Given the description of an element on the screen output the (x, y) to click on. 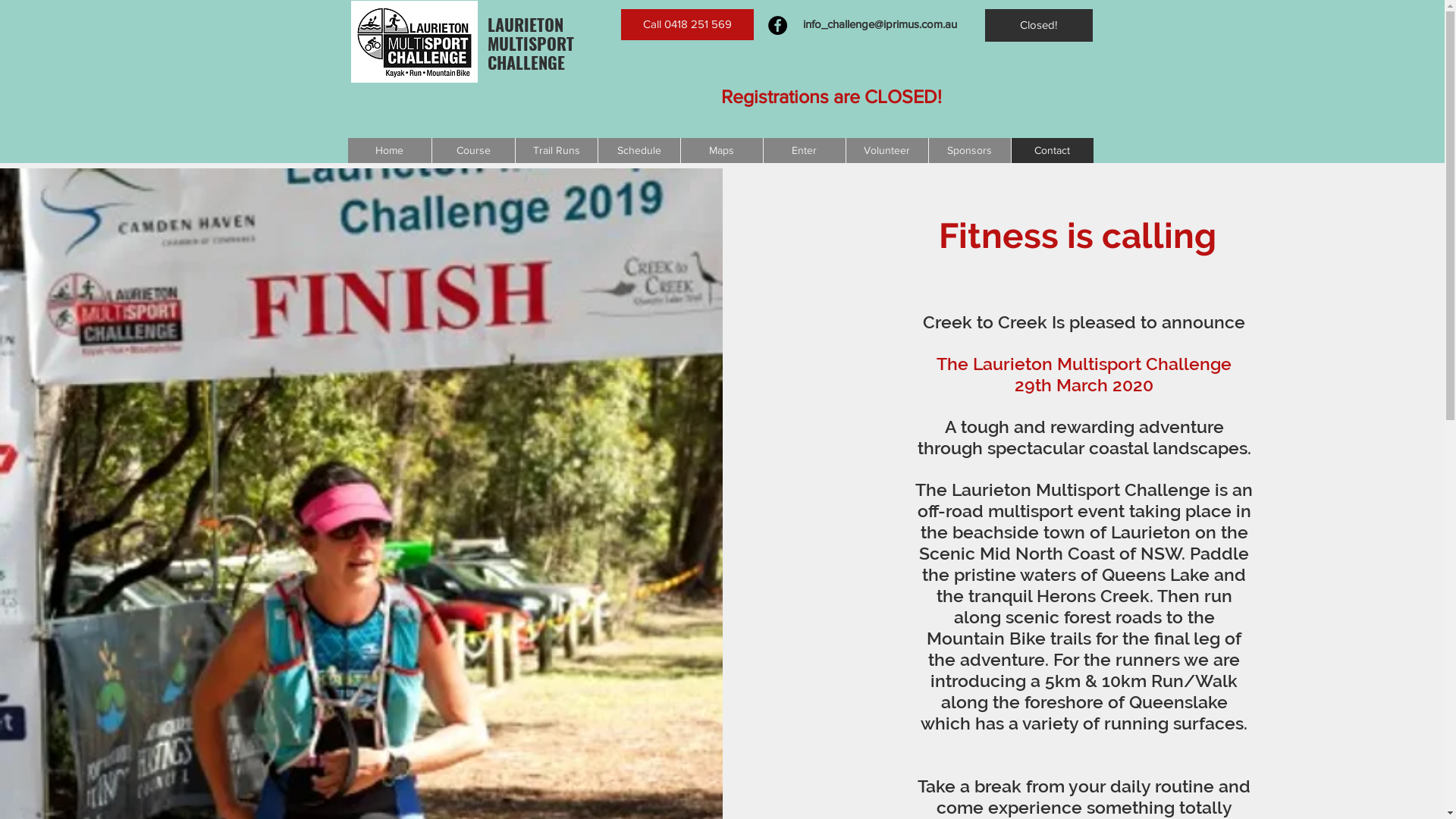
Contact Element type: text (1051, 150)
Call 0418 251 569 Element type: text (686, 24)
Course Element type: text (472, 150)
info_challenge@iprimus.com.au Element type: text (879, 23)
Enter Element type: text (803, 150)
Closed! Element type: text (1038, 25)
Maps Element type: text (720, 150)
Trail Runs Element type: text (555, 150)
Schedule Element type: text (638, 150)
Home Element type: text (388, 150)
Volunteer Element type: text (885, 150)
Sponsors Element type: text (969, 150)
